Given the description of an element on the screen output the (x, y) to click on. 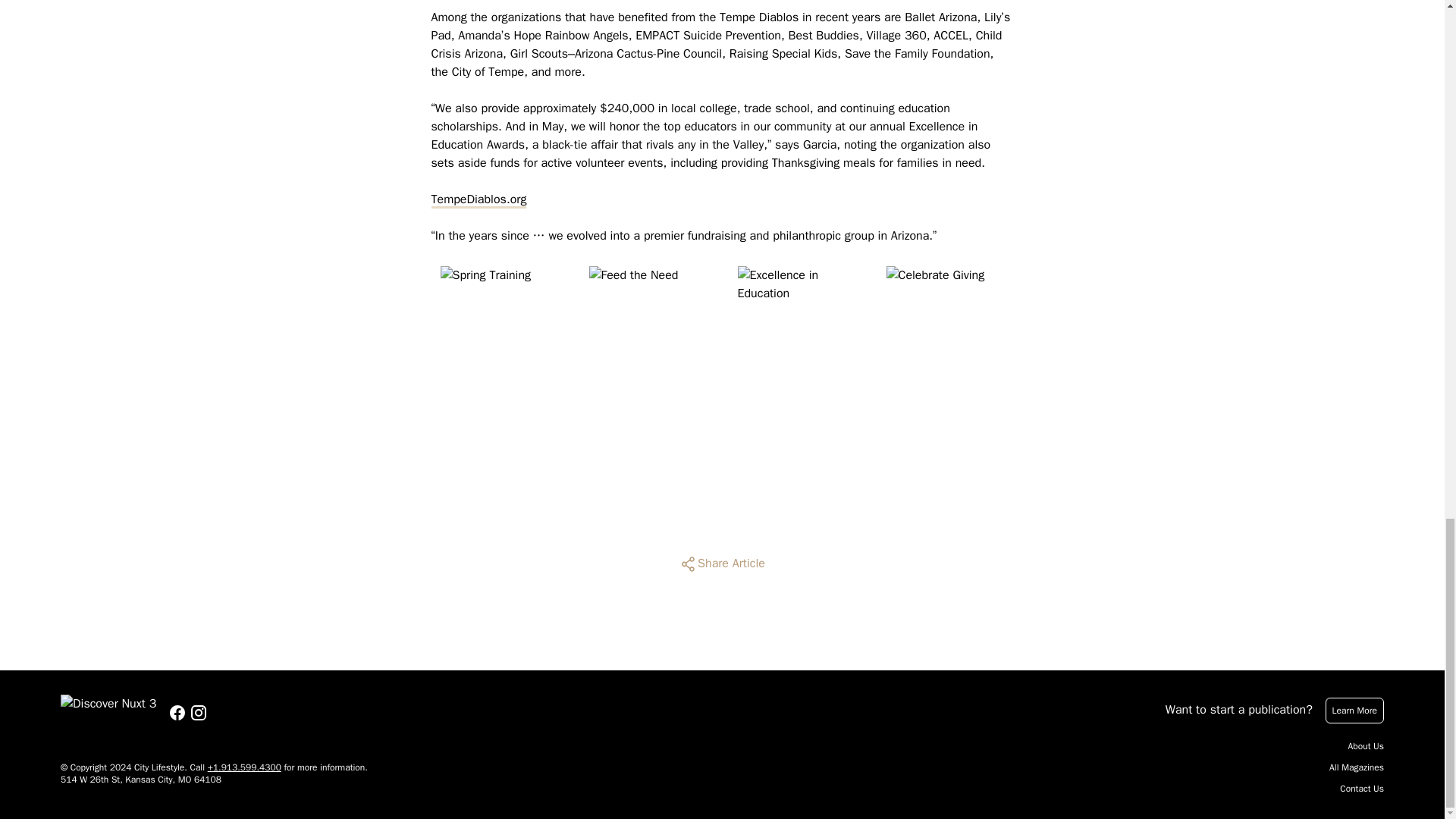
About Us (1366, 746)
Contact Us (1361, 788)
Share Article (722, 563)
TempeDiablos.org (477, 199)
All Magazines (1356, 767)
Learn More (1354, 710)
